Given the description of an element on the screen output the (x, y) to click on. 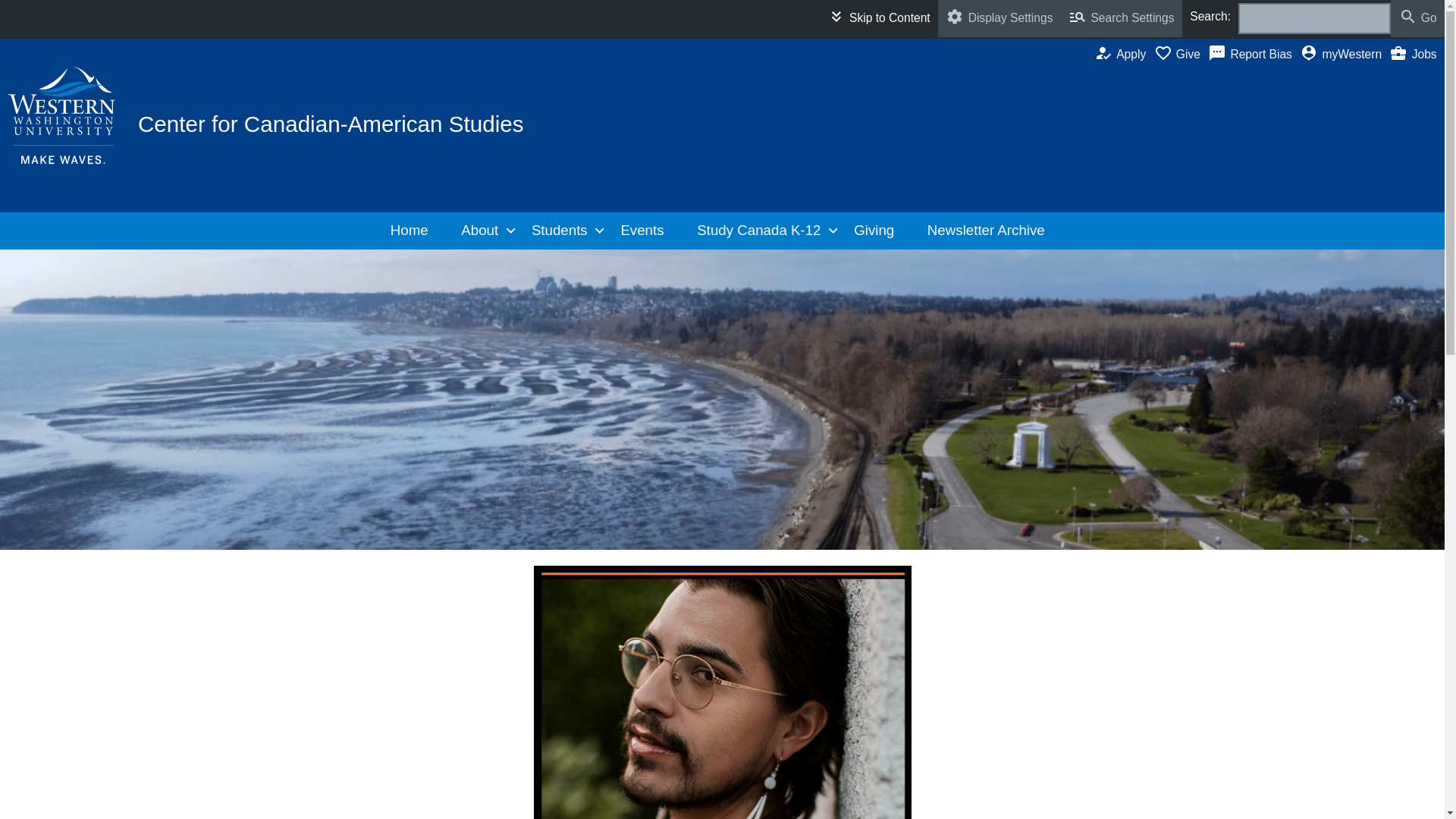
Newsletter Archive (990, 231)
Display Settings (999, 18)
Students (563, 231)
Study Canada K-12 (764, 231)
Center for Canadian-American Studies (331, 123)
Report Bias (1254, 55)
Home (413, 231)
Giving (879, 231)
Events (646, 231)
Give (1181, 55)
Skip to Content (877, 18)
Search Settings (1121, 18)
myWestern (1344, 55)
Western Logo (63, 115)
